Given the description of an element on the screen output the (x, y) to click on. 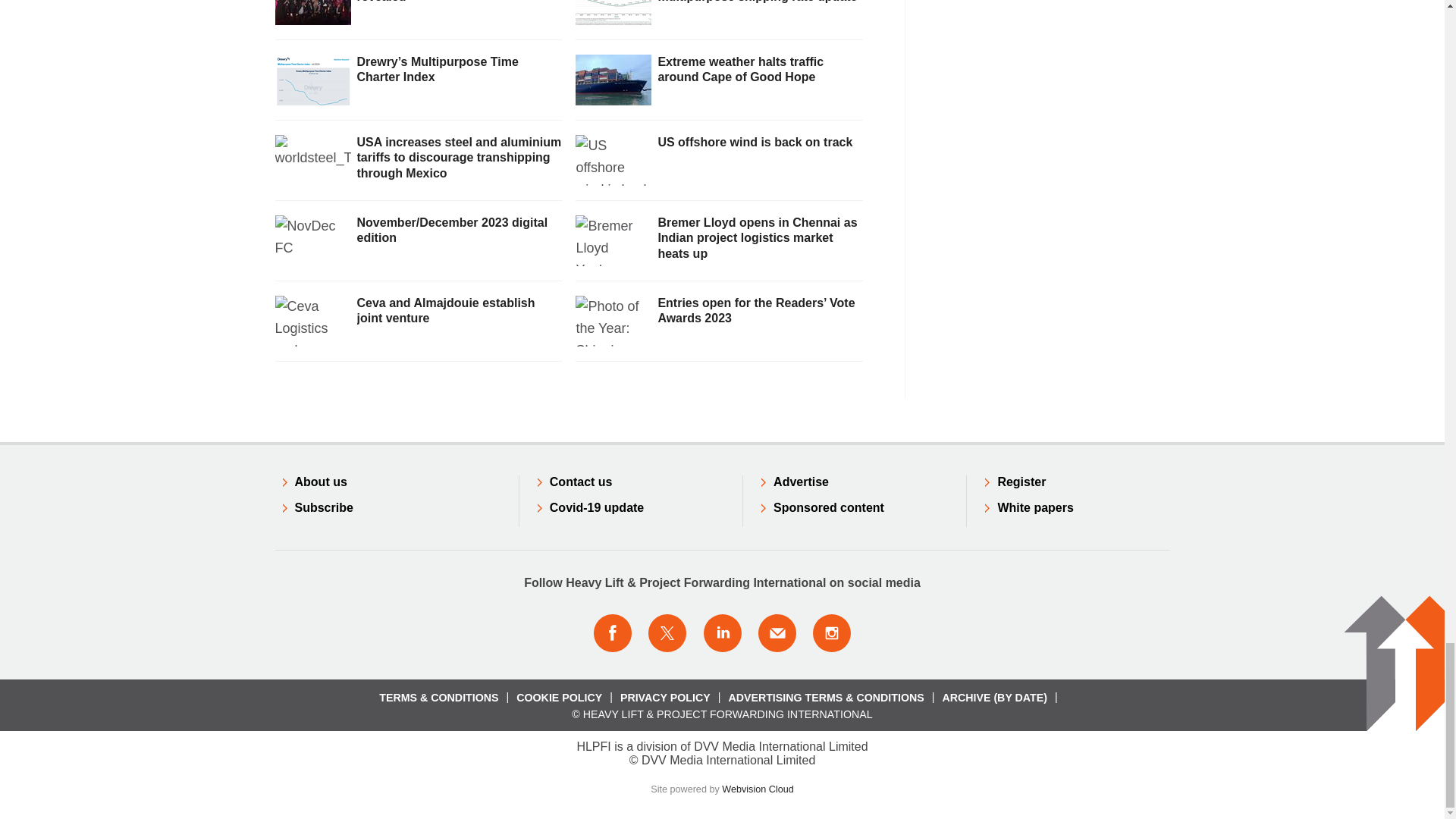
Email us (776, 632)
Connect with us on Instagram (831, 632)
Connect with us on Facebook (611, 632)
Connect with us on Twitter (667, 632)
Connect with us on LinkedIn (721, 632)
